Given the description of an element on the screen output the (x, y) to click on. 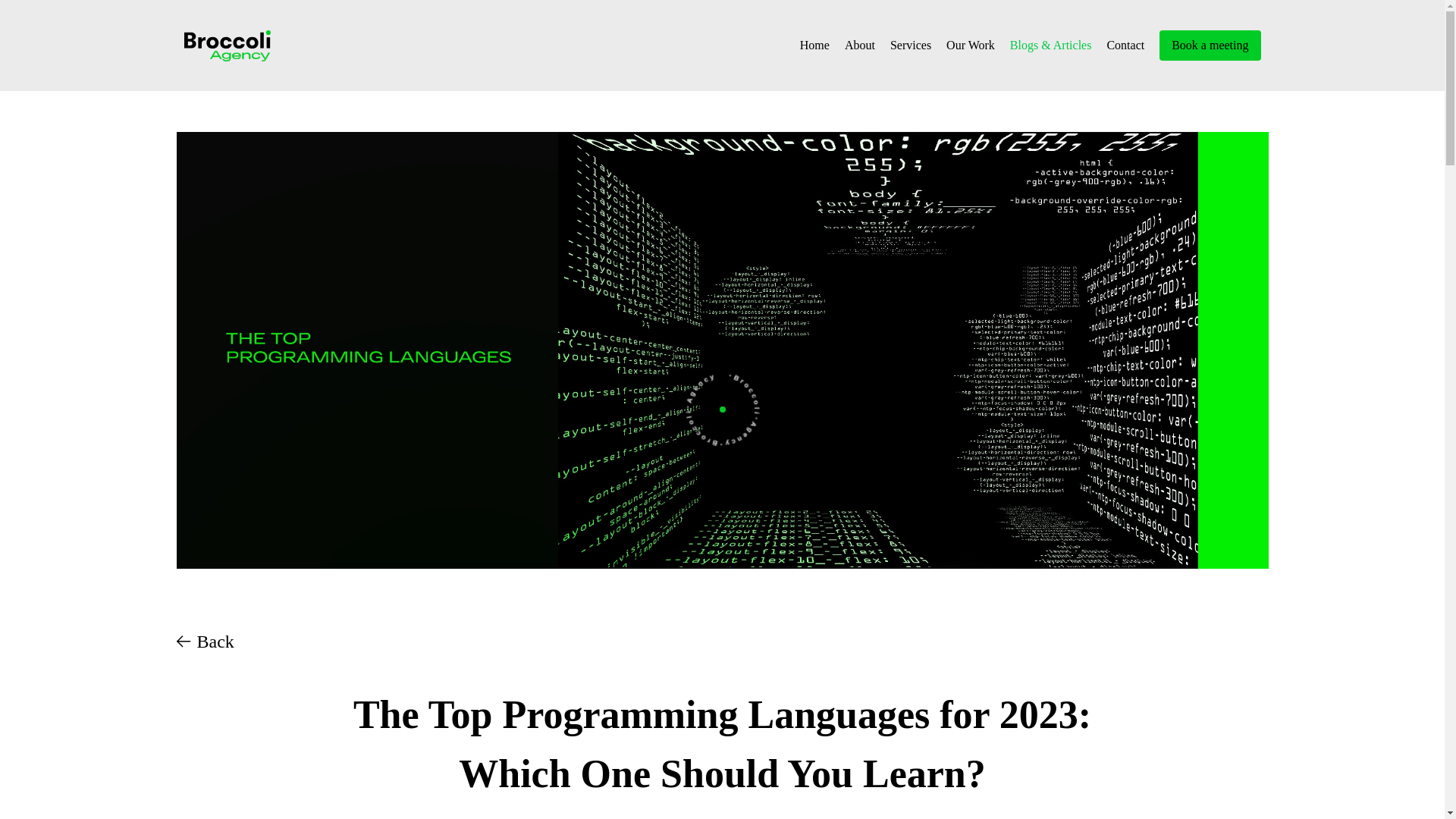
Contact (1125, 45)
Back (204, 641)
About (859, 45)
Home (814, 45)
Our Work (970, 45)
Services (910, 45)
Book a meeting (1209, 45)
